Given the description of an element on the screen output the (x, y) to click on. 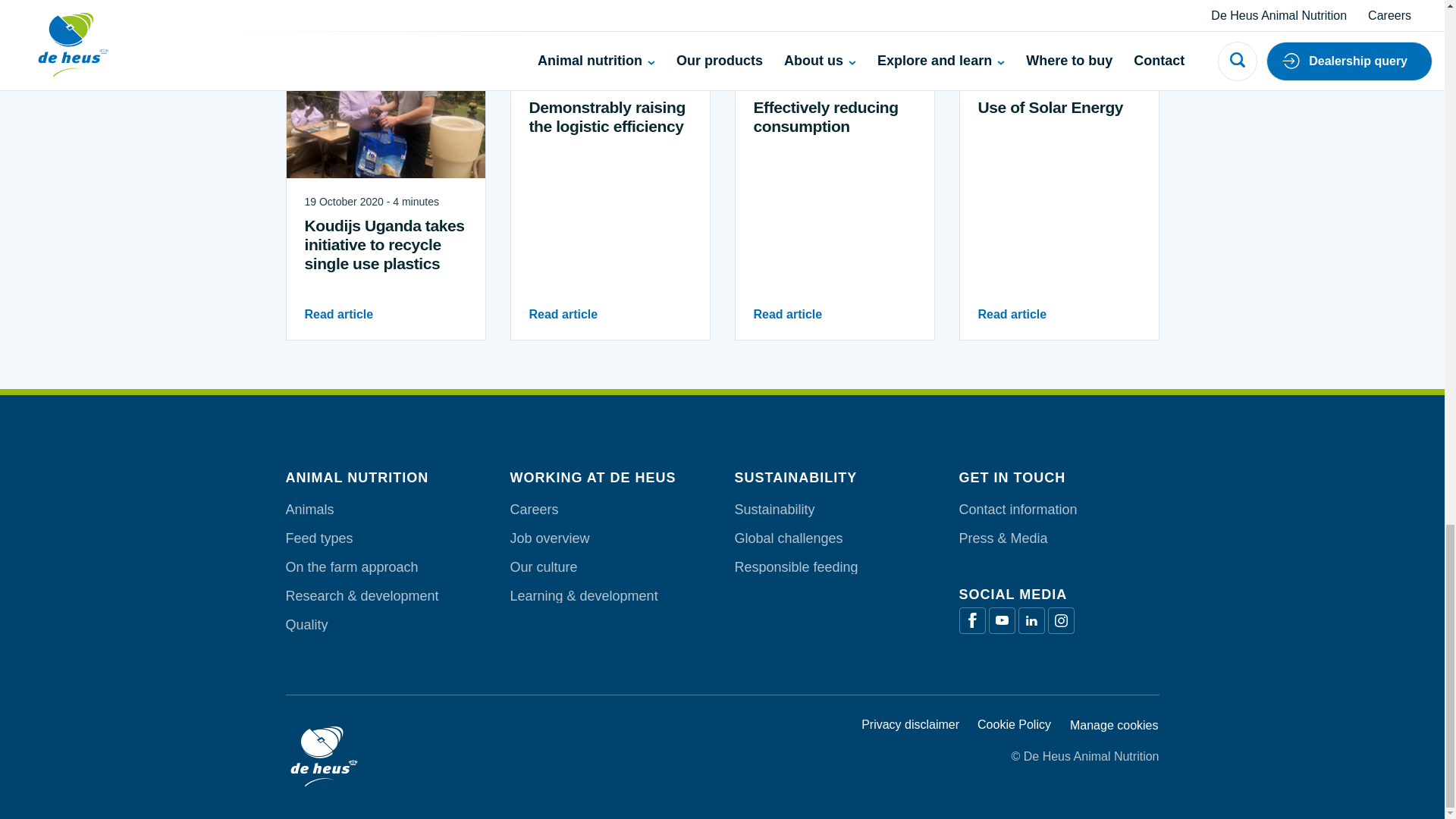
Effectively reducing consumption (834, 267)
Demonstrably raising the logistic efficiency (610, 267)
Use of Solar Energy (1059, 257)
